Given the description of an element on the screen output the (x, y) to click on. 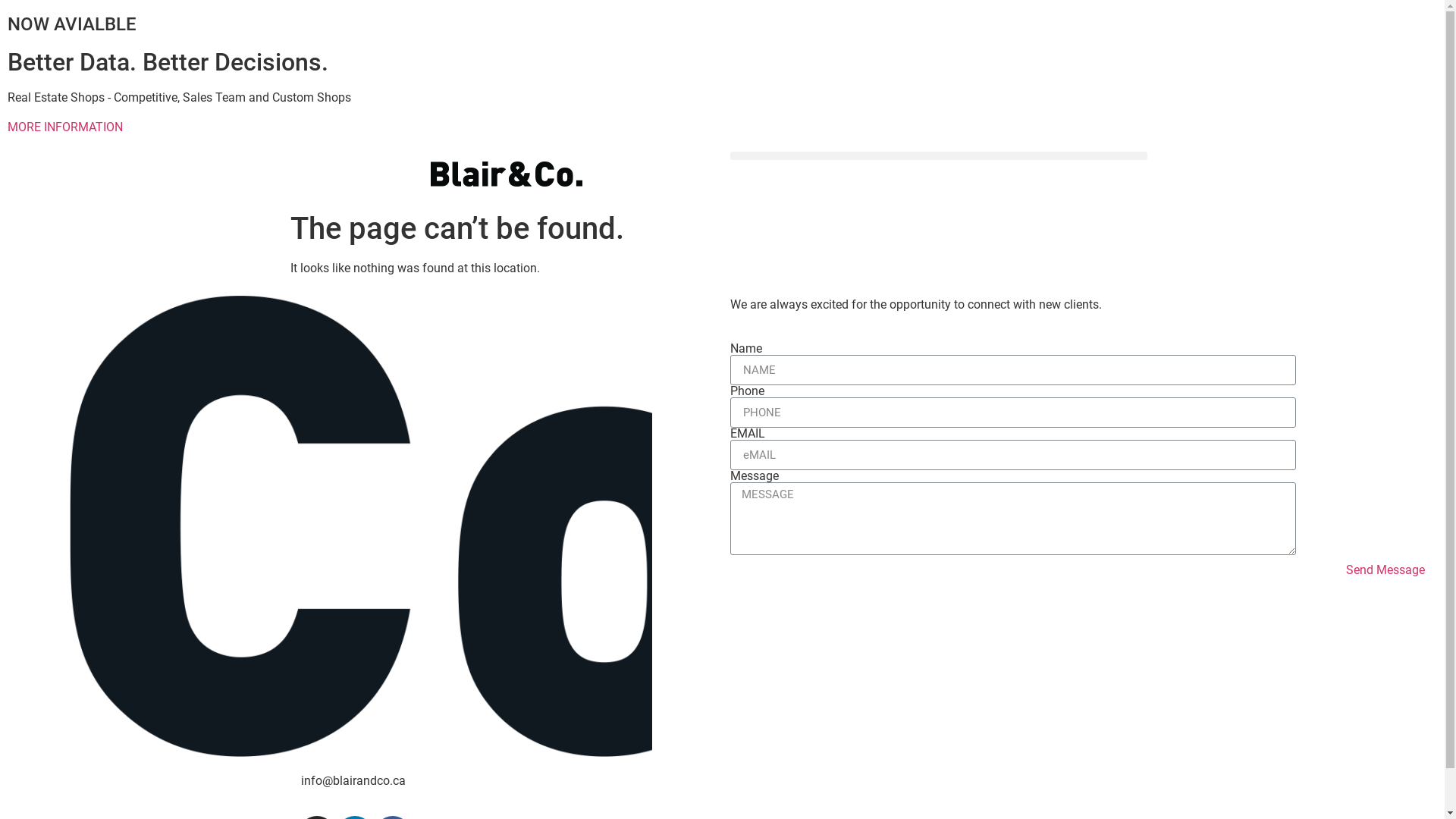
Send Message Element type: text (1385, 570)
MORE INFORMATION Element type: text (64, 126)
